Given the description of an element on the screen output the (x, y) to click on. 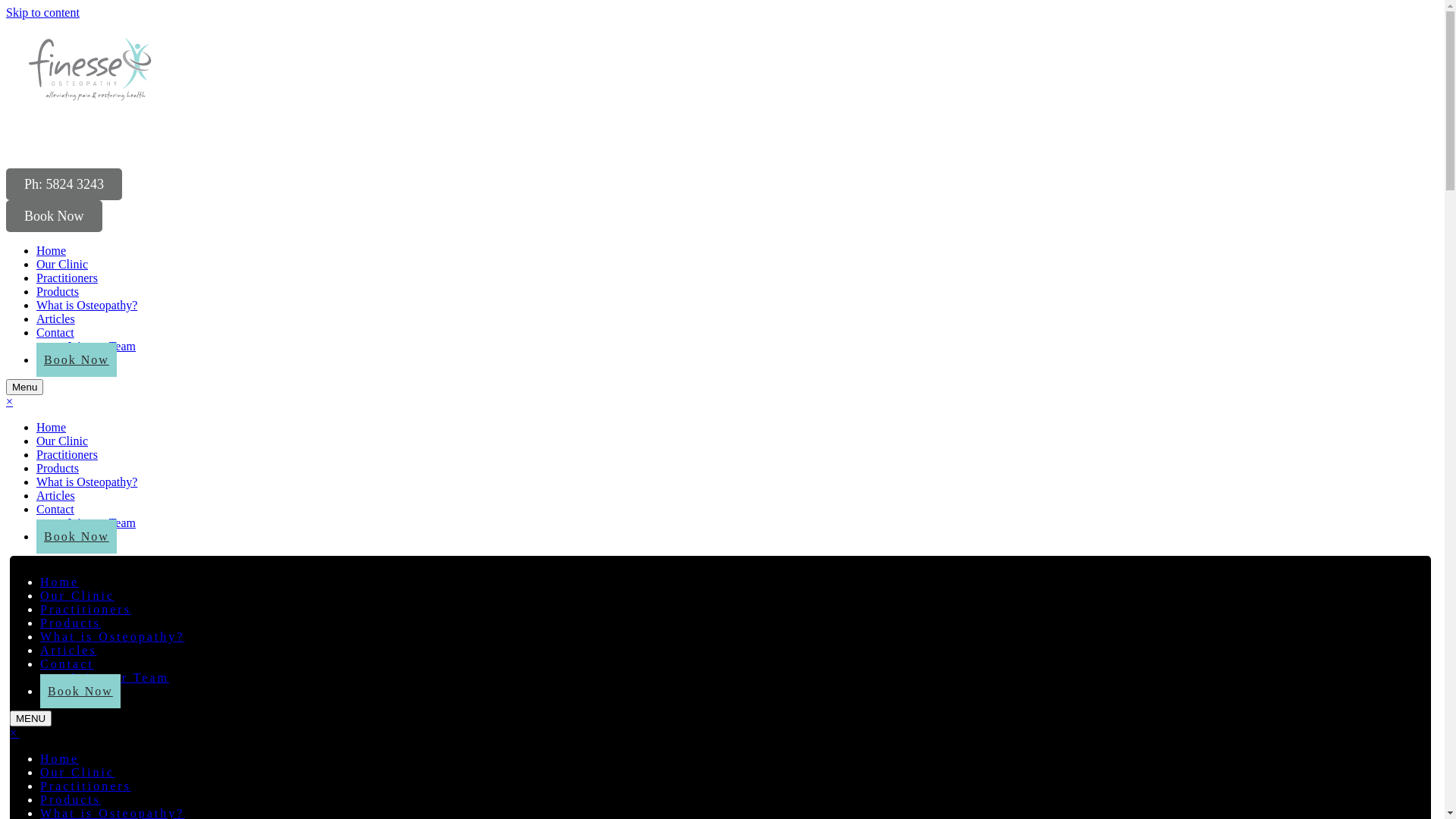
Skip to content Element type: text (42, 12)
Practitioners Element type: text (85, 785)
Practitioners Element type: text (66, 454)
Practitioners Element type: text (66, 277)
Book Now Element type: text (54, 216)
Articles Element type: text (55, 318)
Ph: 5824 3243 Element type: text (64, 184)
Our Clinic Element type: text (61, 263)
What is Osteopathy? Element type: text (112, 636)
Home Element type: text (50, 250)
Our Clinic Element type: text (77, 595)
Home Element type: text (50, 426)
MENU Element type: text (30, 718)
Join our Team Element type: text (119, 677)
Book Now Element type: text (76, 359)
Home Element type: text (59, 581)
Join our Team Element type: text (100, 522)
What is Osteopathy? Element type: text (86, 481)
Book Now Element type: text (76, 536)
What is Osteopathy? Element type: text (86, 304)
Contact Element type: text (67, 663)
Contact Element type: text (55, 508)
Articles Element type: text (68, 649)
Products Element type: text (57, 291)
Logo Element type: hover (123, 92)
Home Element type: text (59, 758)
Join our Team Element type: text (100, 345)
Book Now Element type: text (80, 691)
Menu Element type: text (24, 387)
Contact Element type: text (55, 332)
Products Element type: text (57, 467)
Products Element type: text (70, 799)
Our Clinic Element type: text (77, 771)
Practitioners Element type: text (85, 608)
Our Clinic Element type: text (61, 440)
Articles Element type: text (55, 495)
Products Element type: text (70, 622)
